Given the description of an element on the screen output the (x, y) to click on. 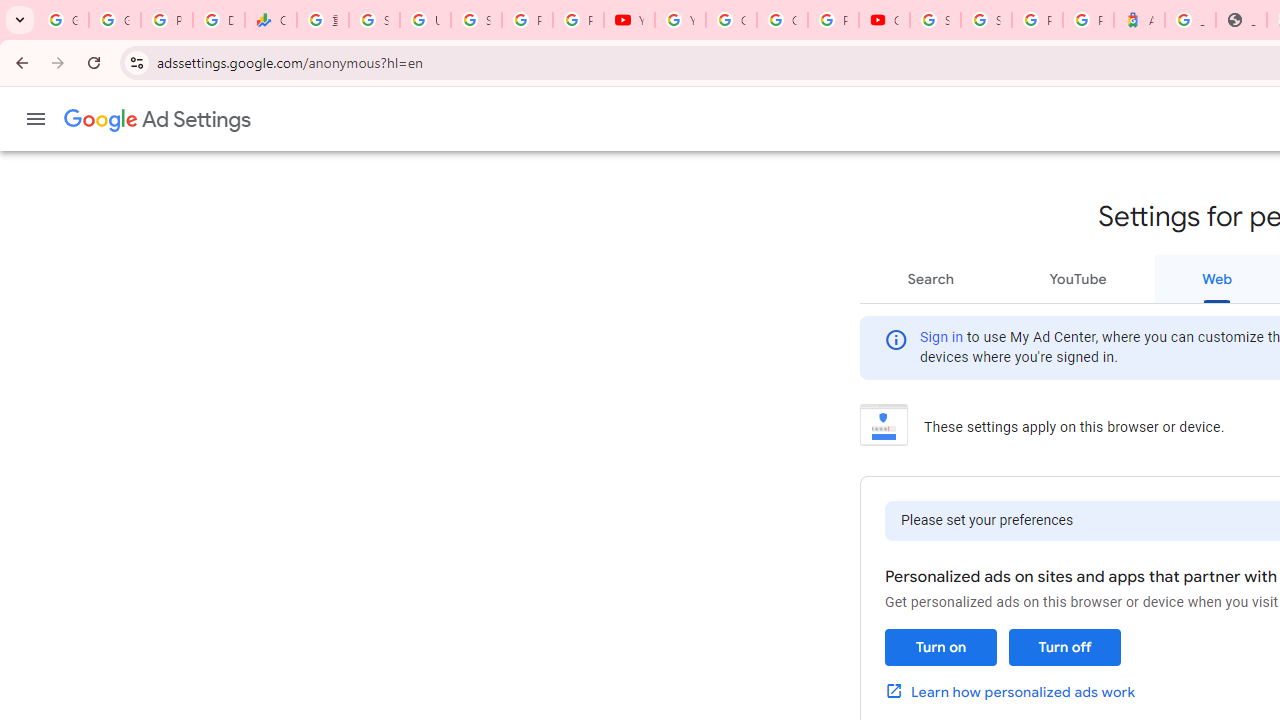
YouTube (629, 20)
Google Account Help (731, 20)
Create your Google Account (781, 20)
Currencies - Google Finance (270, 20)
Atour Hotel - Google hotels (1138, 20)
Sign in - Google Accounts (475, 20)
